Given the description of an element on the screen output the (x, y) to click on. 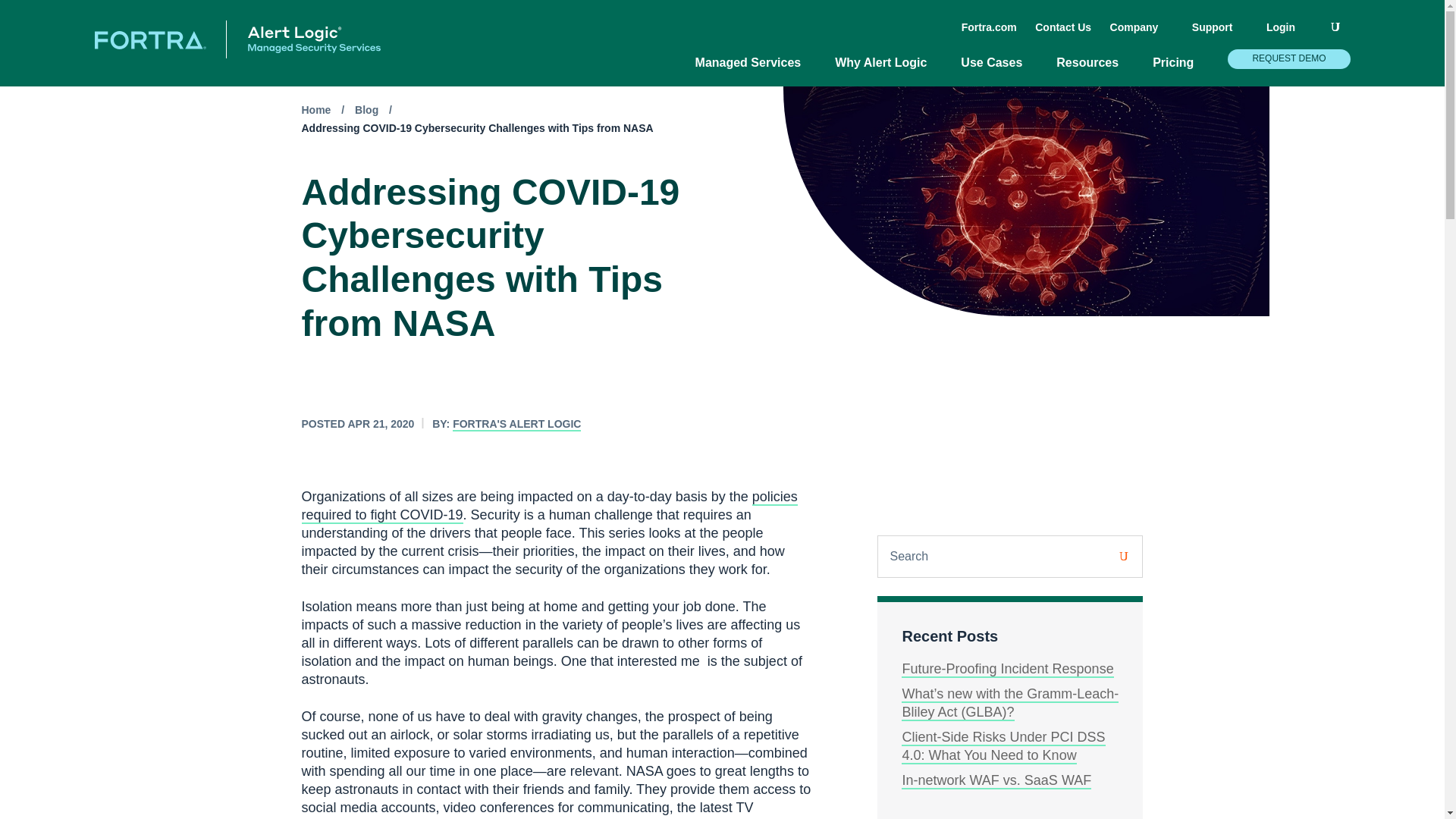
Managed Services (755, 69)
Contact Us (1062, 27)
Support (1219, 32)
Fortra.com (988, 27)
Why Alert Logic (888, 69)
Login (1288, 32)
Company (1141, 32)
Login (1288, 32)
Support (1219, 32)
Company (1141, 32)
